Given the description of an element on the screen output the (x, y) to click on. 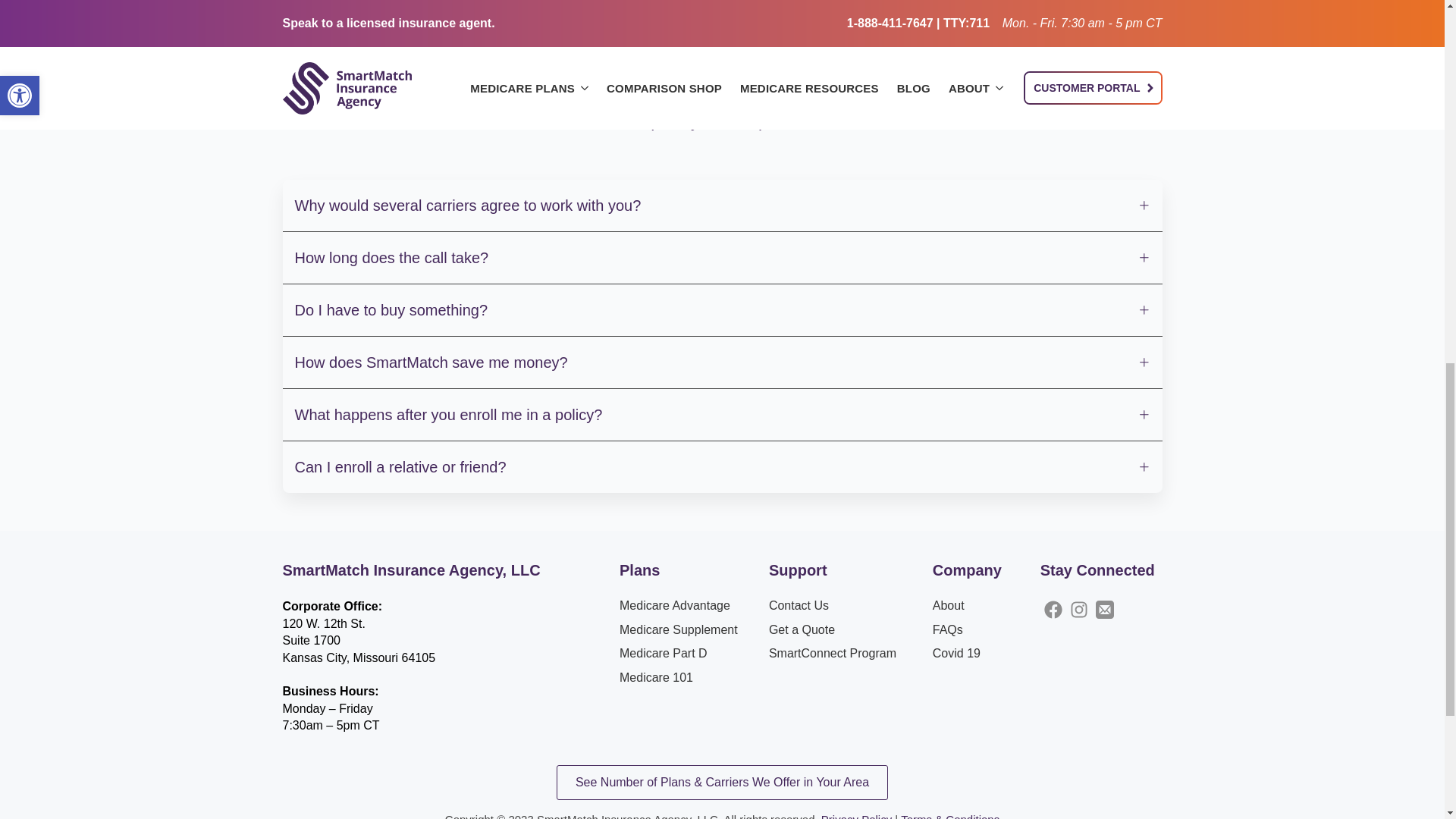
Can I enroll a relative or friend? (721, 467)
SmartConnect Program (832, 653)
Do I have to buy something? (721, 309)
How does SmartMatch save me money? (721, 362)
What happens after you enroll me in a policy? (721, 414)
Medicare Advantage (675, 605)
Contact Us (798, 605)
Medicare Supplement (679, 629)
About (948, 605)
Get a Quote (801, 629)
FAQs (947, 629)
Medicare Part D (663, 653)
Why would several carriers agree to work with you? (721, 204)
Medicare 101 (656, 677)
How long does the call take? (721, 257)
